Given the description of an element on the screen output the (x, y) to click on. 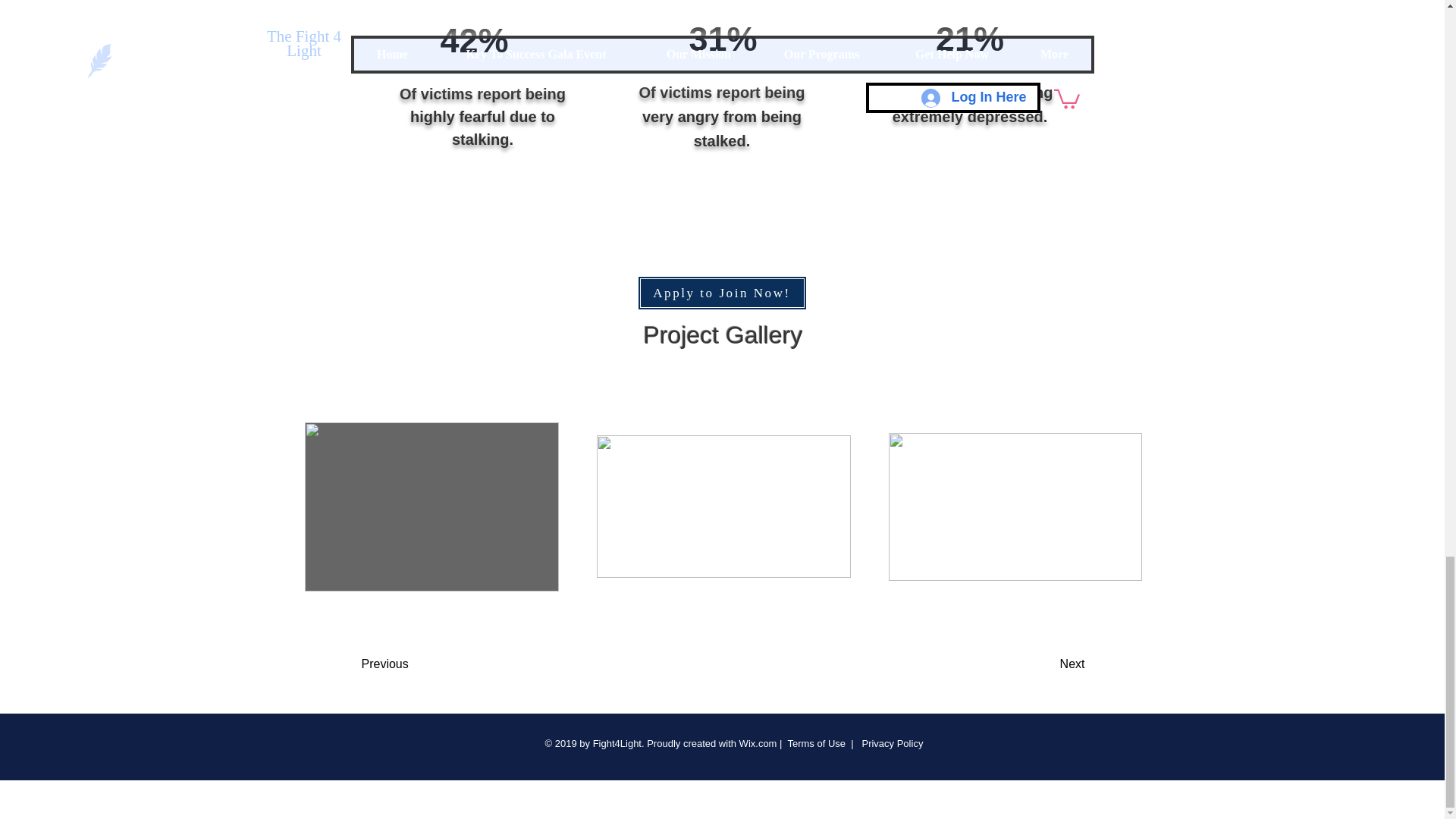
angry.png (723, 10)
Terms of Use (816, 743)
Wix.com (758, 743)
Next (1033, 664)
Previous (422, 664)
 Privacy Policy (891, 743)
Apply to Join Now! (721, 293)
depressed.png (956, 10)
